Given the description of an element on the screen output the (x, y) to click on. 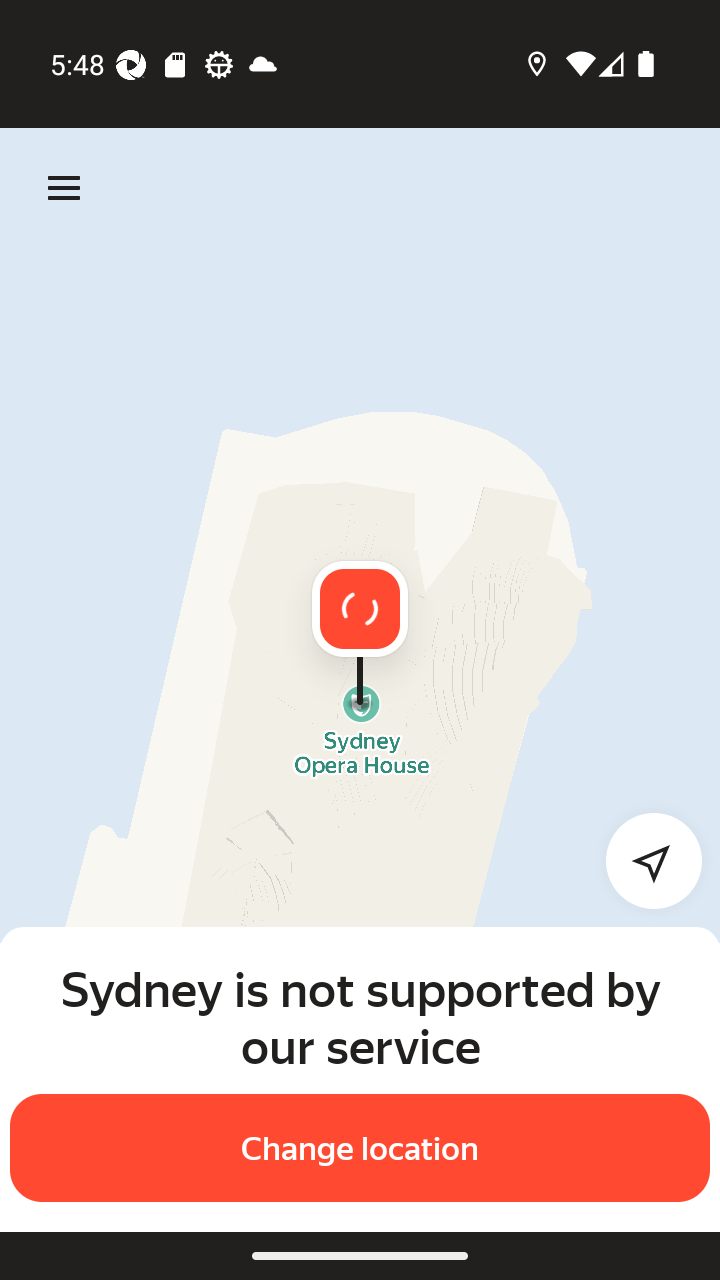
Menu Menu Menu (64, 188)
Detect my location (641, 860)
Change location (359, 1147)
